Given the description of an element on the screen output the (x, y) to click on. 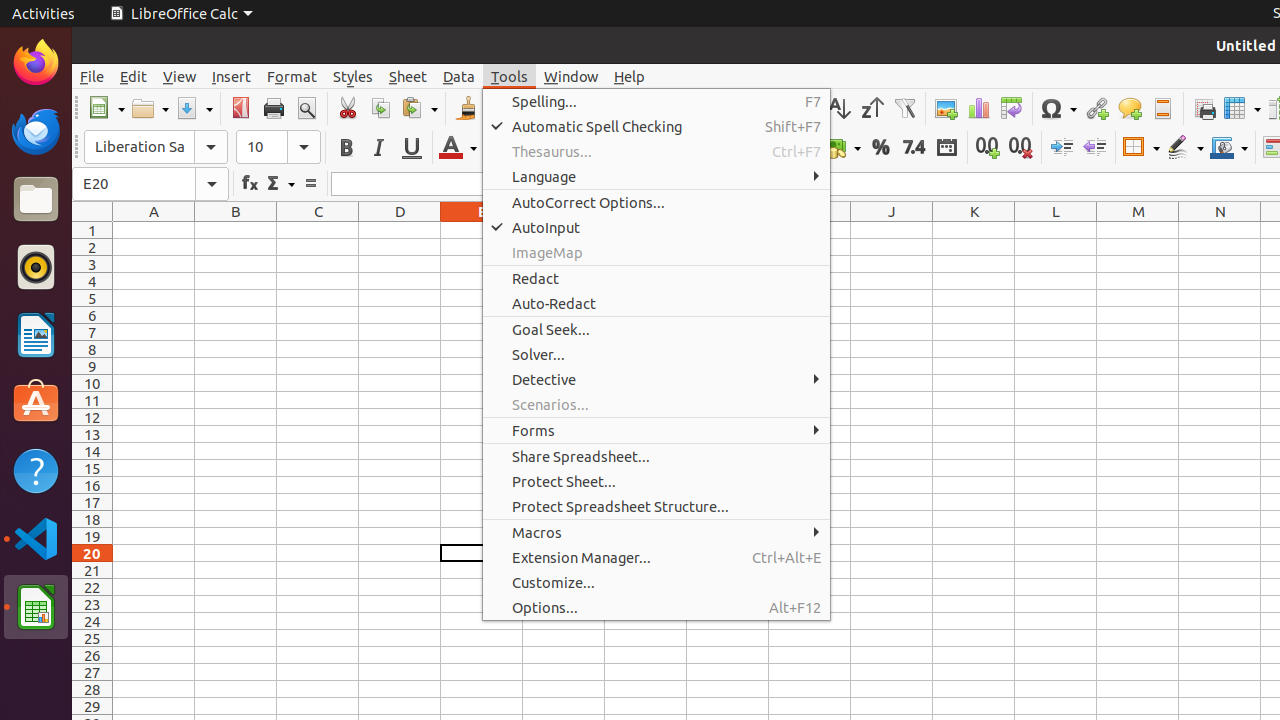
File Element type: menu (92, 76)
Font Name Element type: combo-box (156, 147)
Solver... Element type: menu-item (656, 354)
Comment Element type: push-button (1129, 108)
Pivot Table Element type: push-button (1011, 108)
